Given the description of an element on the screen output the (x, y) to click on. 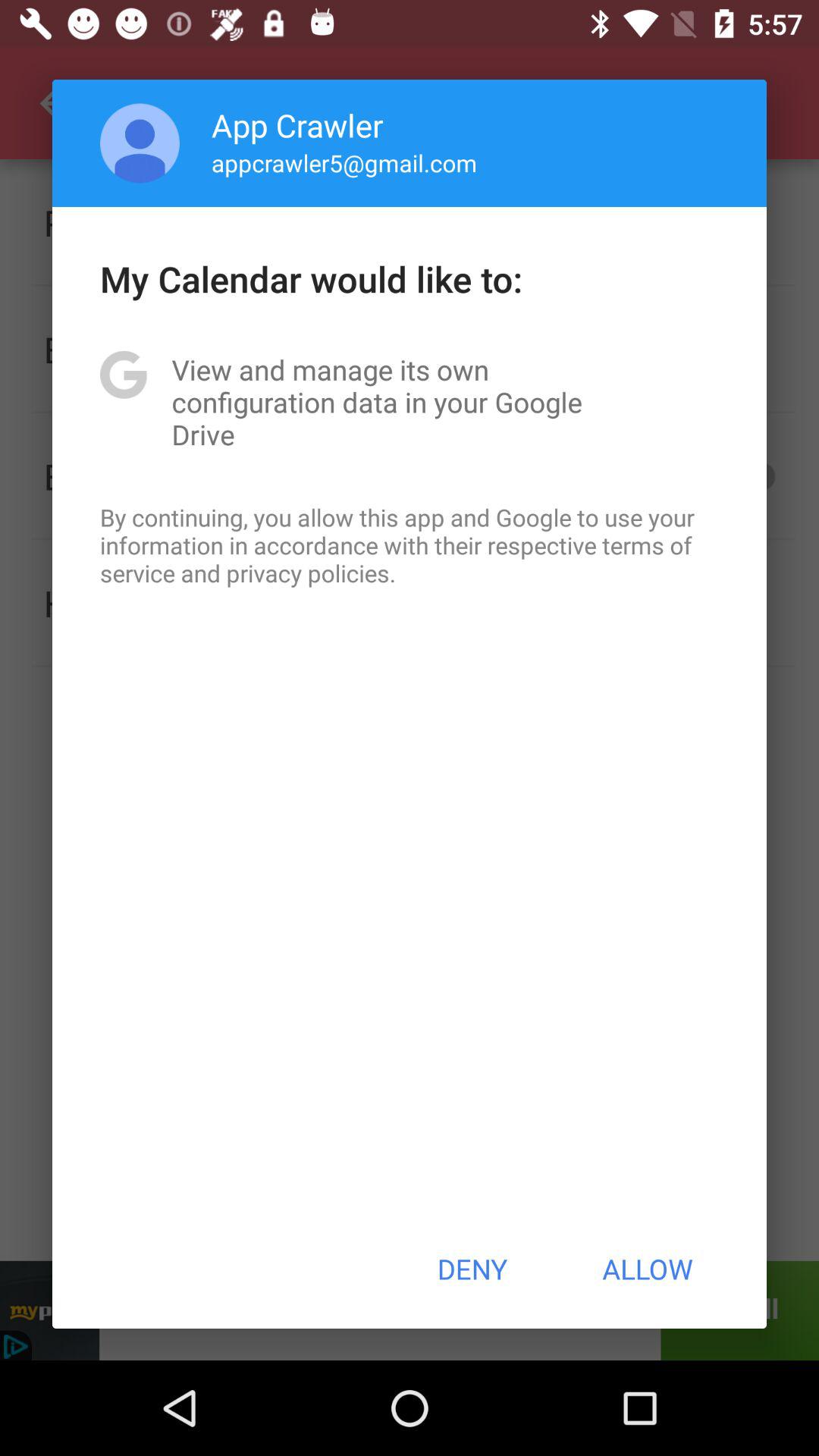
open icon to the left of app crawler app (139, 143)
